Given the description of an element on the screen output the (x, y) to click on. 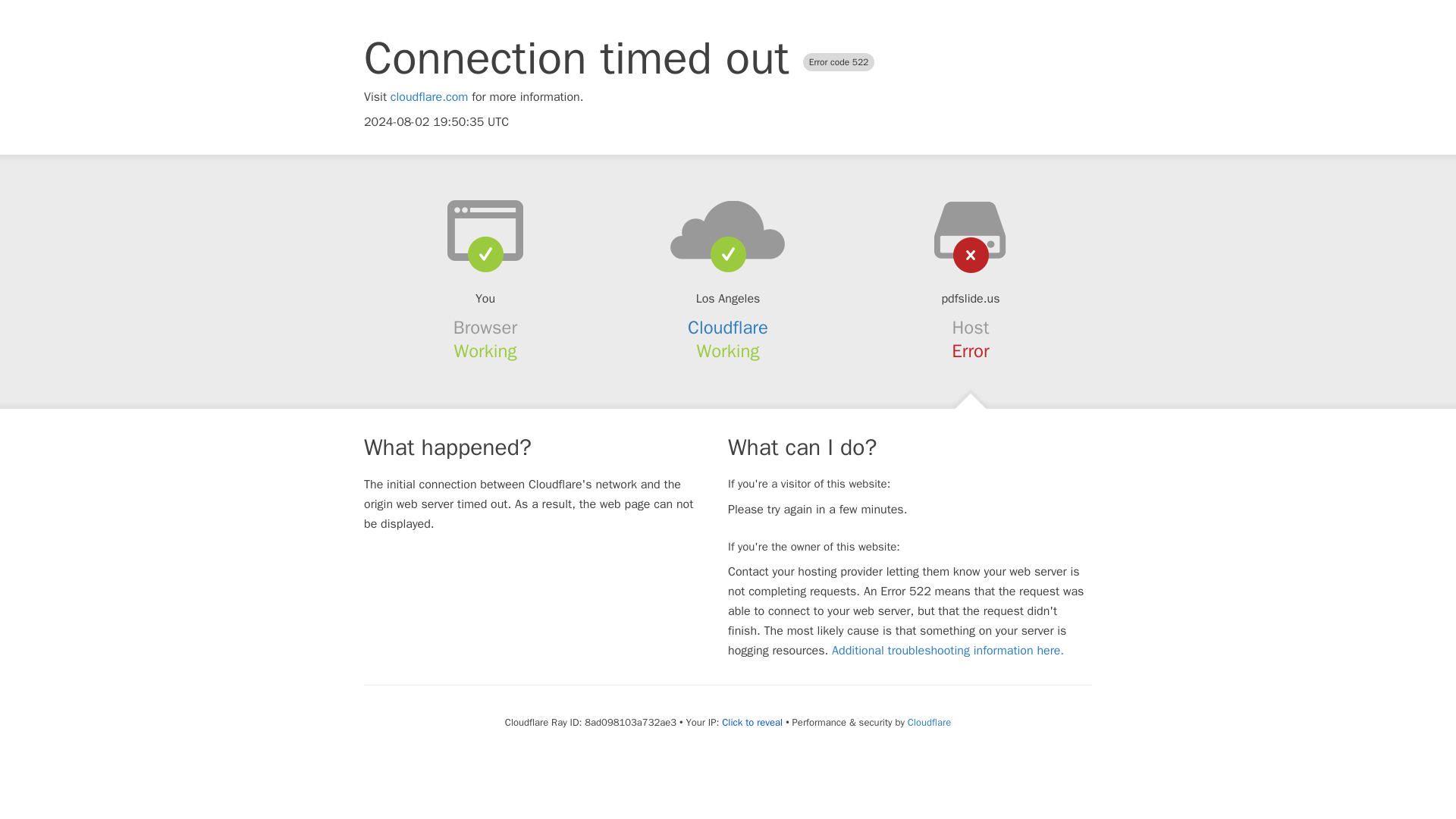
Additional troubleshooting information here. (947, 650)
Cloudflare (928, 721)
cloudflare.com (429, 96)
Click to reveal (752, 722)
Cloudflare (727, 327)
